Given the description of an element on the screen output the (x, y) to click on. 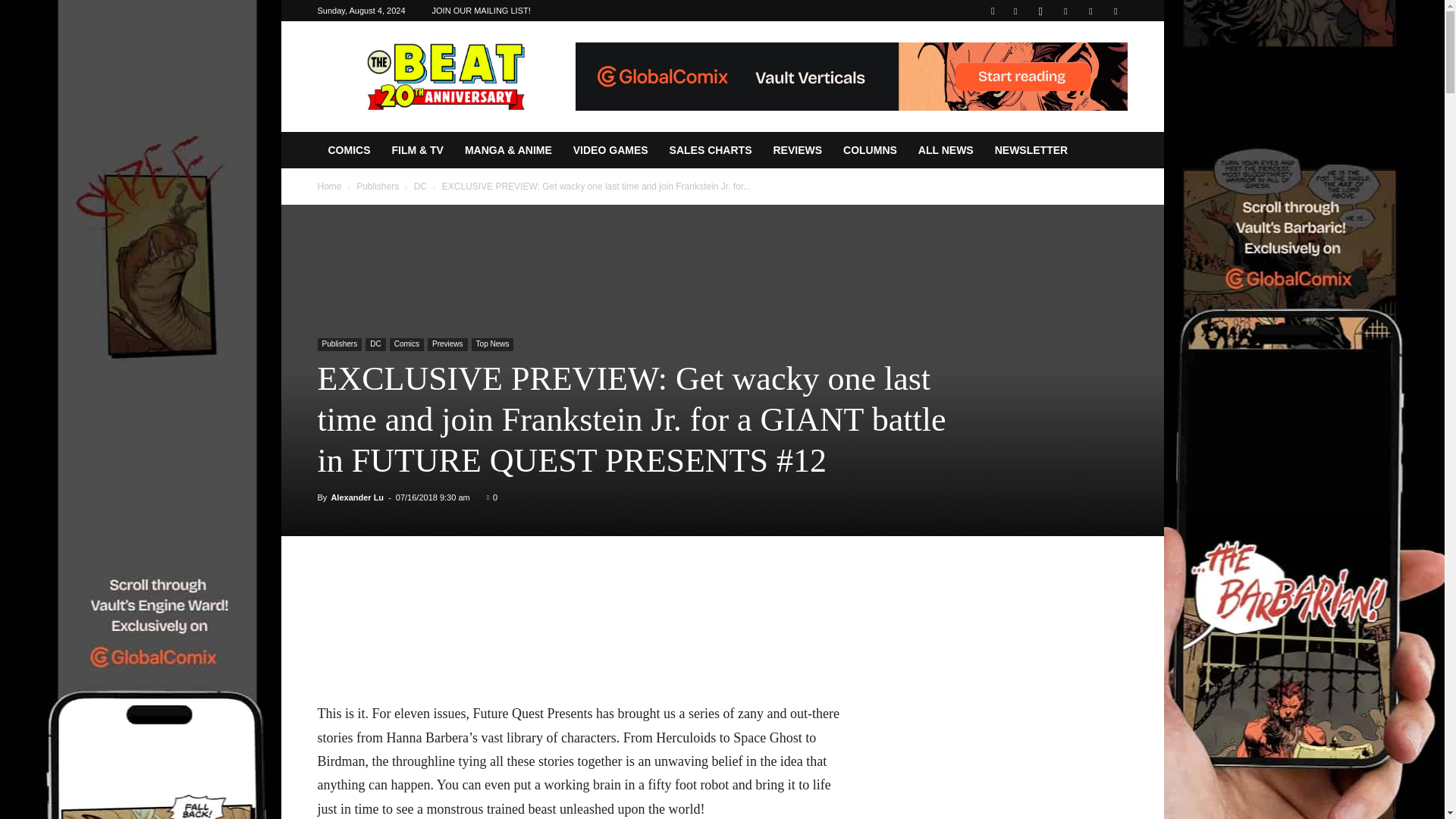
Twitter (1090, 10)
View all posts in Publishers (377, 185)
REVIEWS (796, 149)
View all posts in DC (419, 185)
Instagram (1040, 10)
COMICS (348, 149)
NEWSLETTER (1031, 149)
SALES CHARTS (710, 149)
Facebook (1015, 10)
COLUMNS (869, 149)
ALL NEWS (945, 149)
RSS (1065, 10)
Youtube (1114, 10)
Search (1085, 64)
VIDEO GAMES (610, 149)
